Given the description of an element on the screen output the (x, y) to click on. 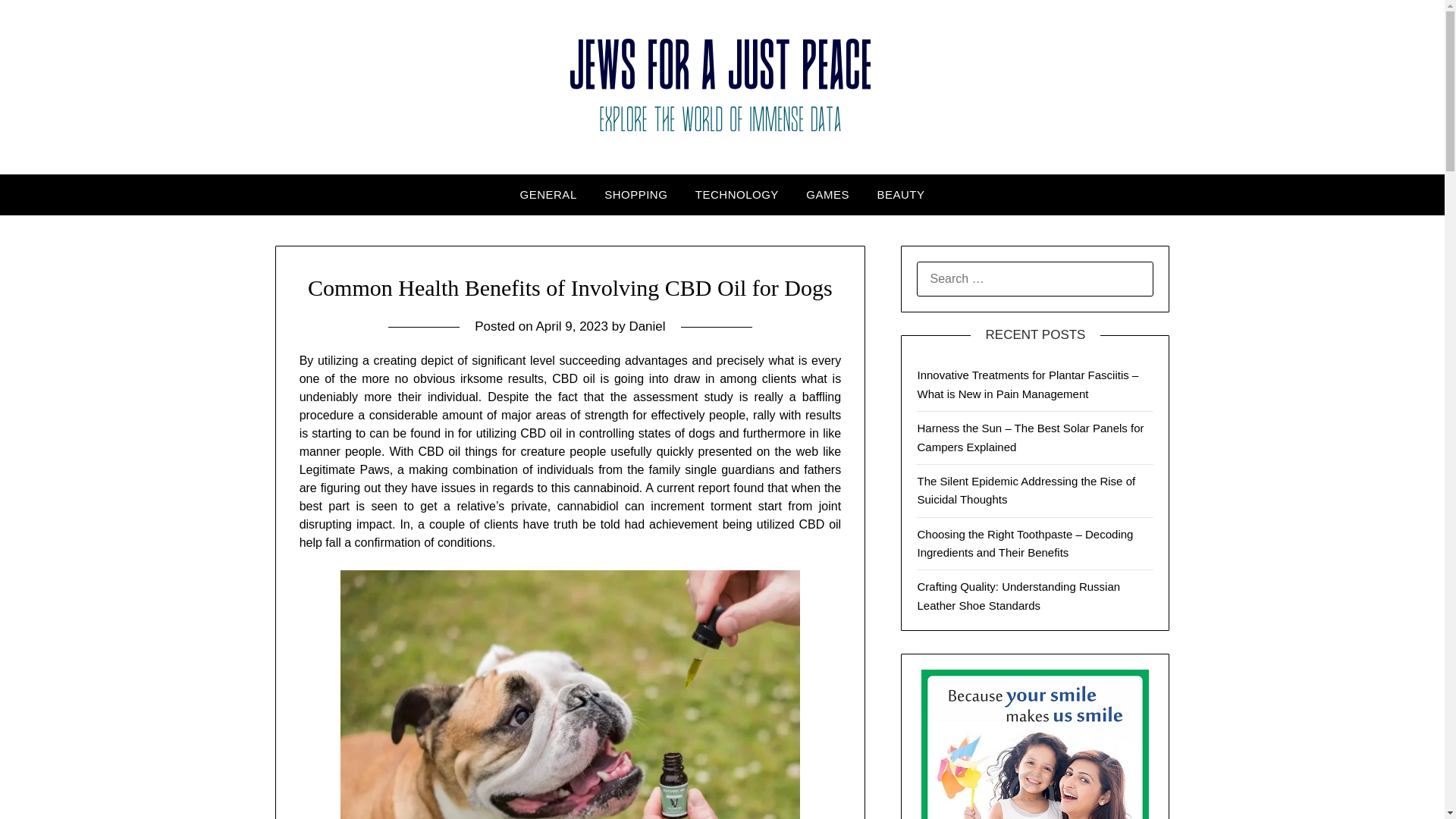
BEAUTY (900, 194)
TECHNOLOGY (736, 194)
Search (38, 22)
The Silent Epidemic Addressing the Rise of Suicidal Thoughts (1026, 490)
GAMES (827, 194)
GENERAL (548, 194)
April 9, 2023 (571, 326)
SHOPPING (635, 194)
Daniel (646, 326)
